Given the description of an element on the screen output the (x, y) to click on. 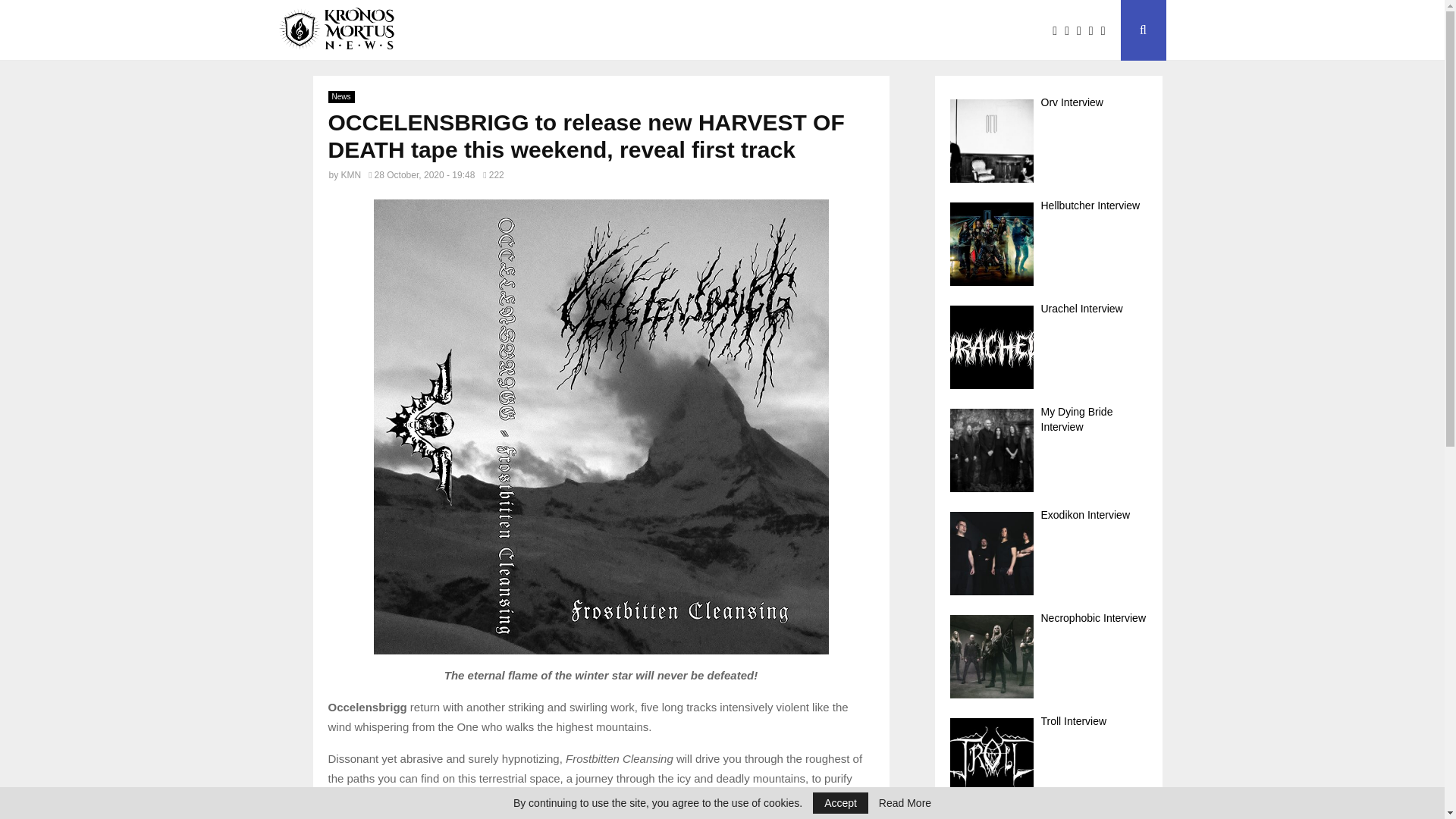
Exodikon Interview (1048, 552)
Troll Interview (1048, 759)
Hellbutcher Interview (1048, 244)
NEWS (465, 30)
Necrophobic Interview (1048, 655)
KMN (350, 174)
News (340, 96)
INTERVIEWS (545, 30)
PREMIERES (641, 30)
FEEDBACK (733, 30)
Urachel Interview (1048, 347)
Orv Interview (1048, 140)
My Dying Bride Interview (1048, 450)
